Given the description of an element on the screen output the (x, y) to click on. 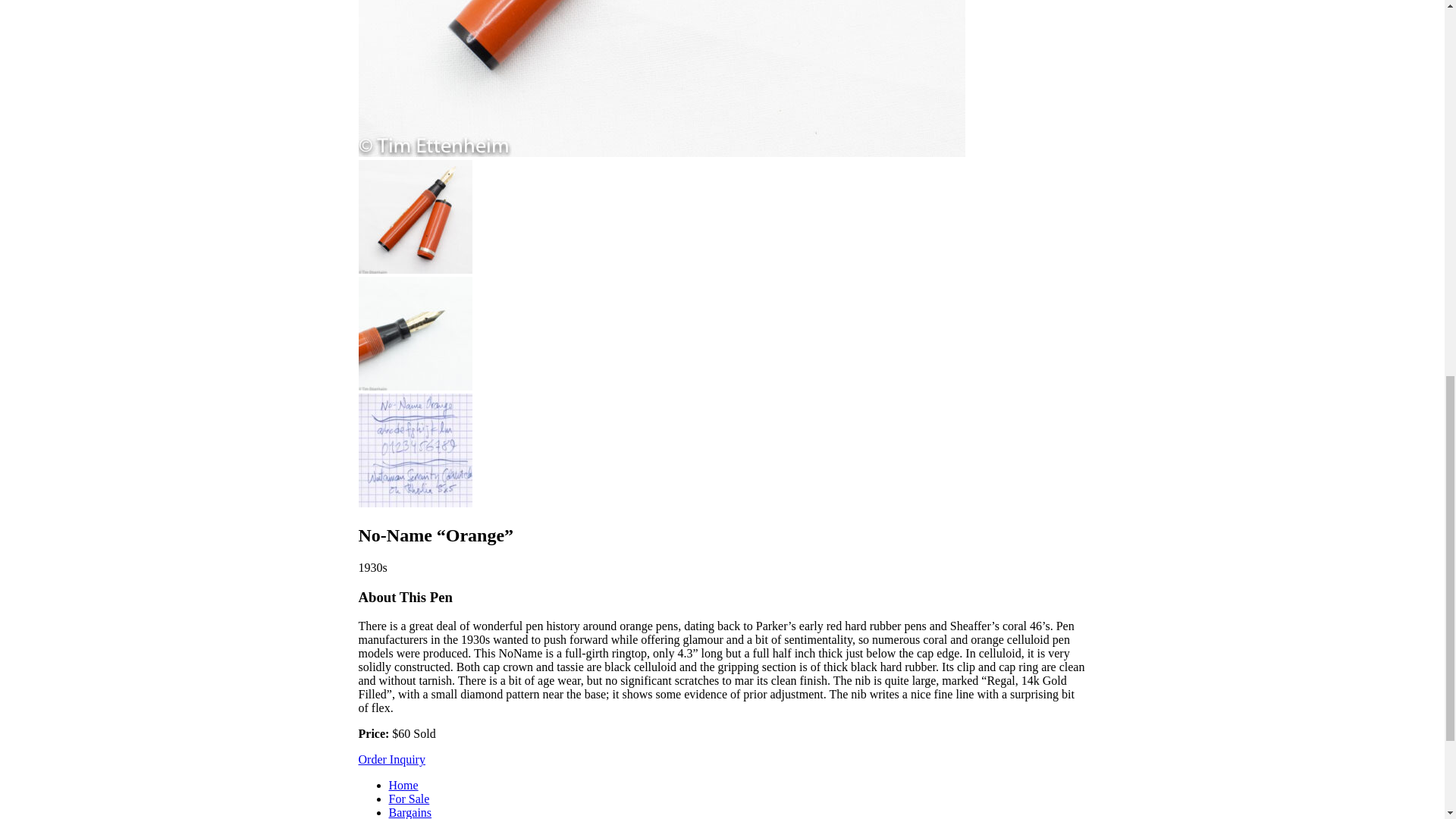
Order Inquiry (391, 758)
Bargains (409, 812)
Home (402, 784)
For Sale (408, 798)
